Given the description of an element on the screen output the (x, y) to click on. 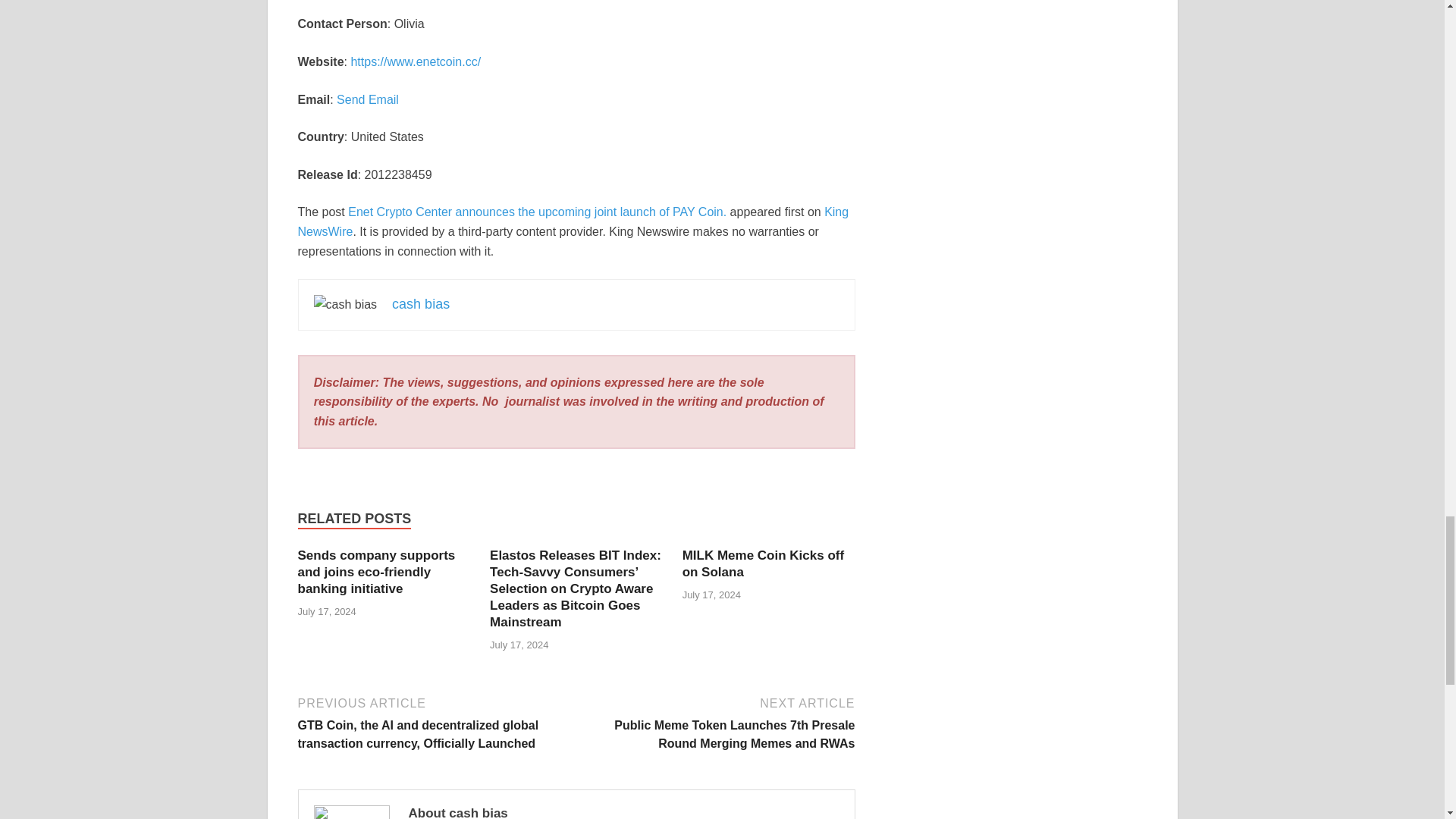
cash bias (420, 304)
MILK Meme Coin Kicks off on Solana (763, 563)
Send Email (367, 99)
King NewsWire (572, 221)
